Given the description of an element on the screen output the (x, y) to click on. 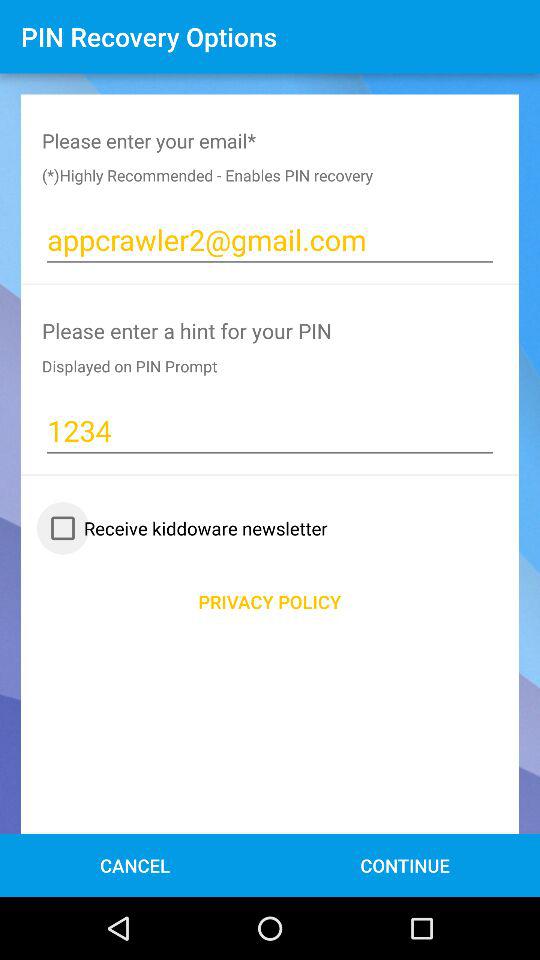
choose icon below displayed on pin icon (269, 430)
